Given the description of an element on the screen output the (x, y) to click on. 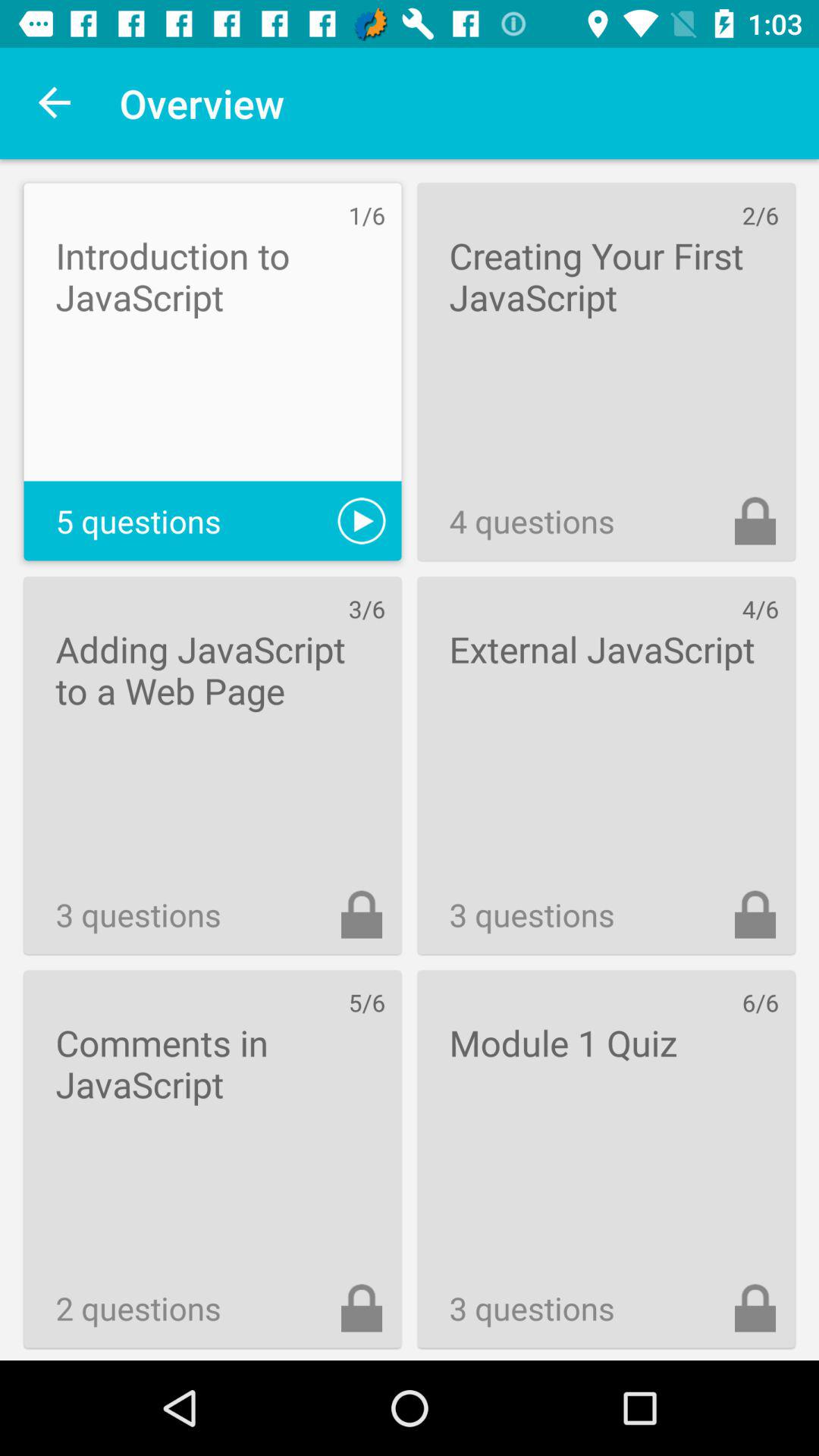
launch the icon to the left of the overview (55, 103)
